Given the description of an element on the screen output the (x, y) to click on. 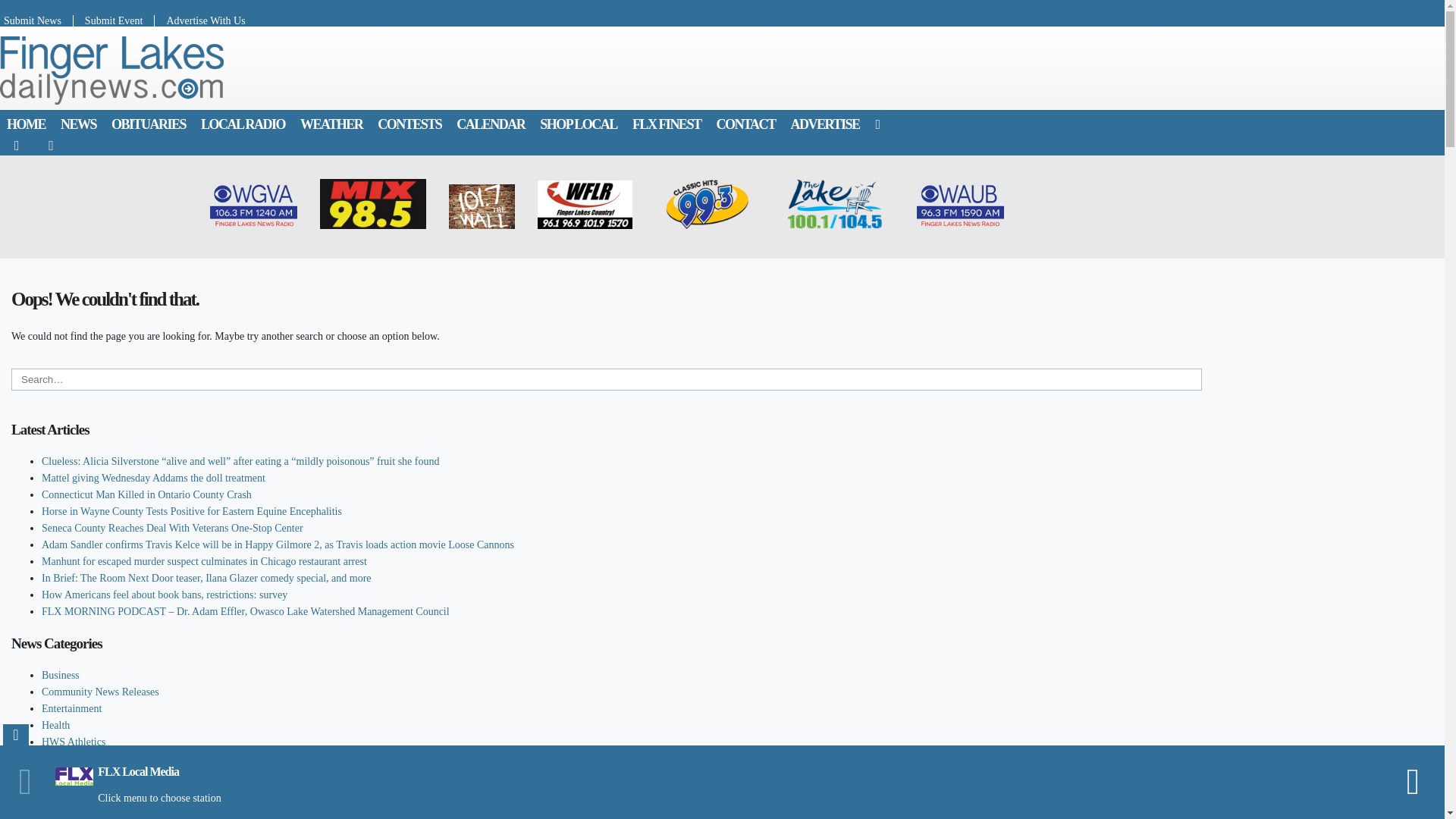
Follow us on X (50, 145)
Submit News (37, 20)
Connecticut Man Killed in Ontario County Crash (146, 494)
3rd party ad content (729, 68)
Advertise With Us (199, 20)
Follow us on Facebook (16, 145)
Submit Event (114, 20)
Mattel giving Wednesday Addams the doll treatment (153, 478)
